Given the description of an element on the screen output the (x, y) to click on. 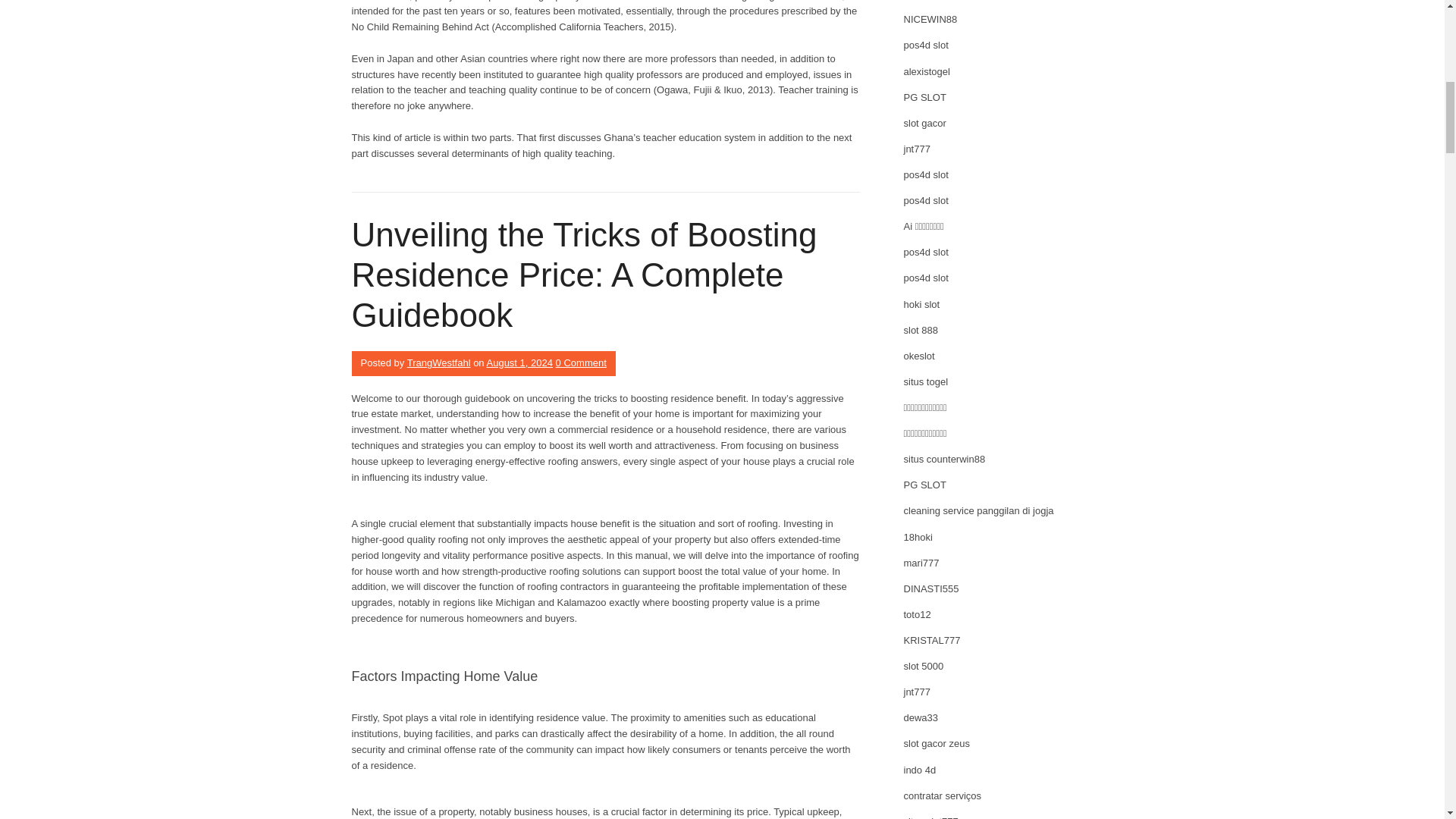
TrangWestfahl (438, 362)
August 1, 2024 (519, 362)
0 Comment (581, 362)
